Given the description of an element on the screen output the (x, y) to click on. 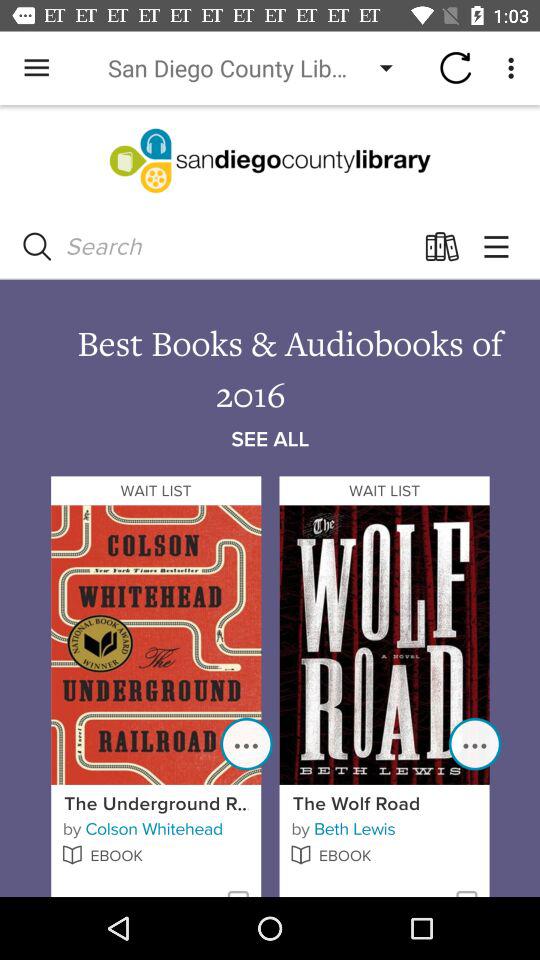
screen page (270, 501)
